Given the description of an element on the screen output the (x, y) to click on. 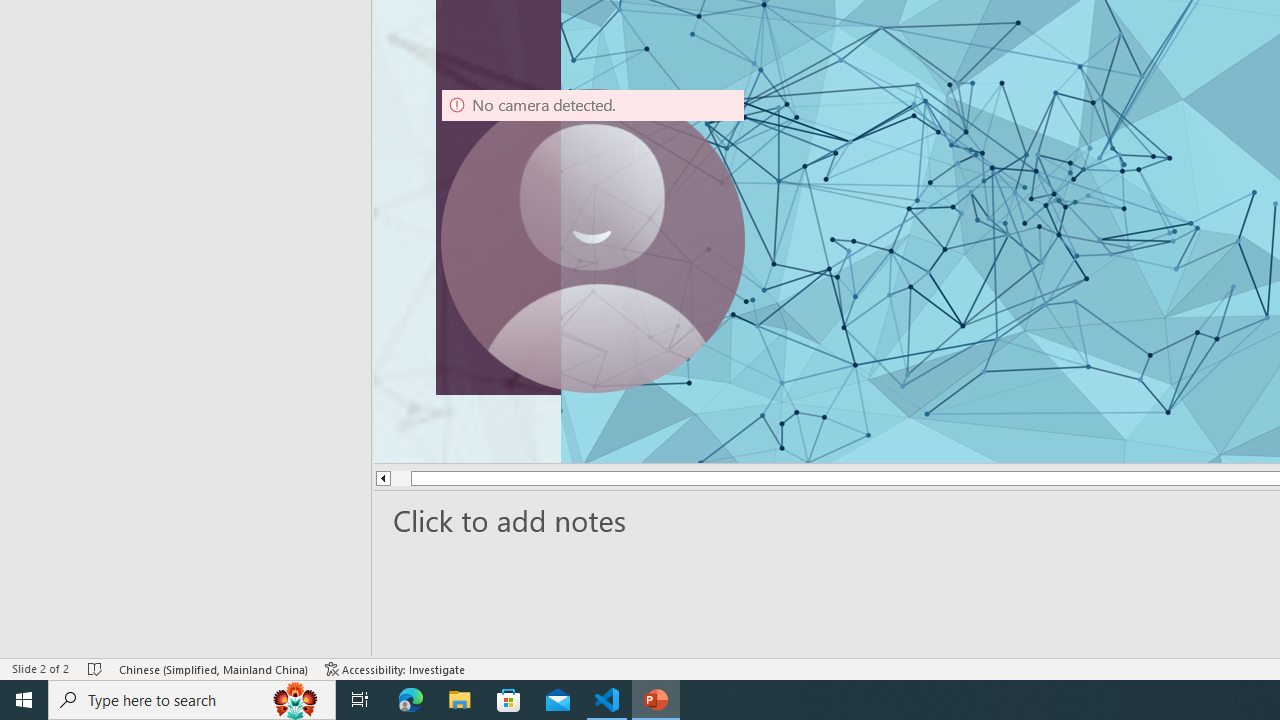
Camera 9, No camera detected. (593, 240)
